Given the description of an element on the screen output the (x, y) to click on. 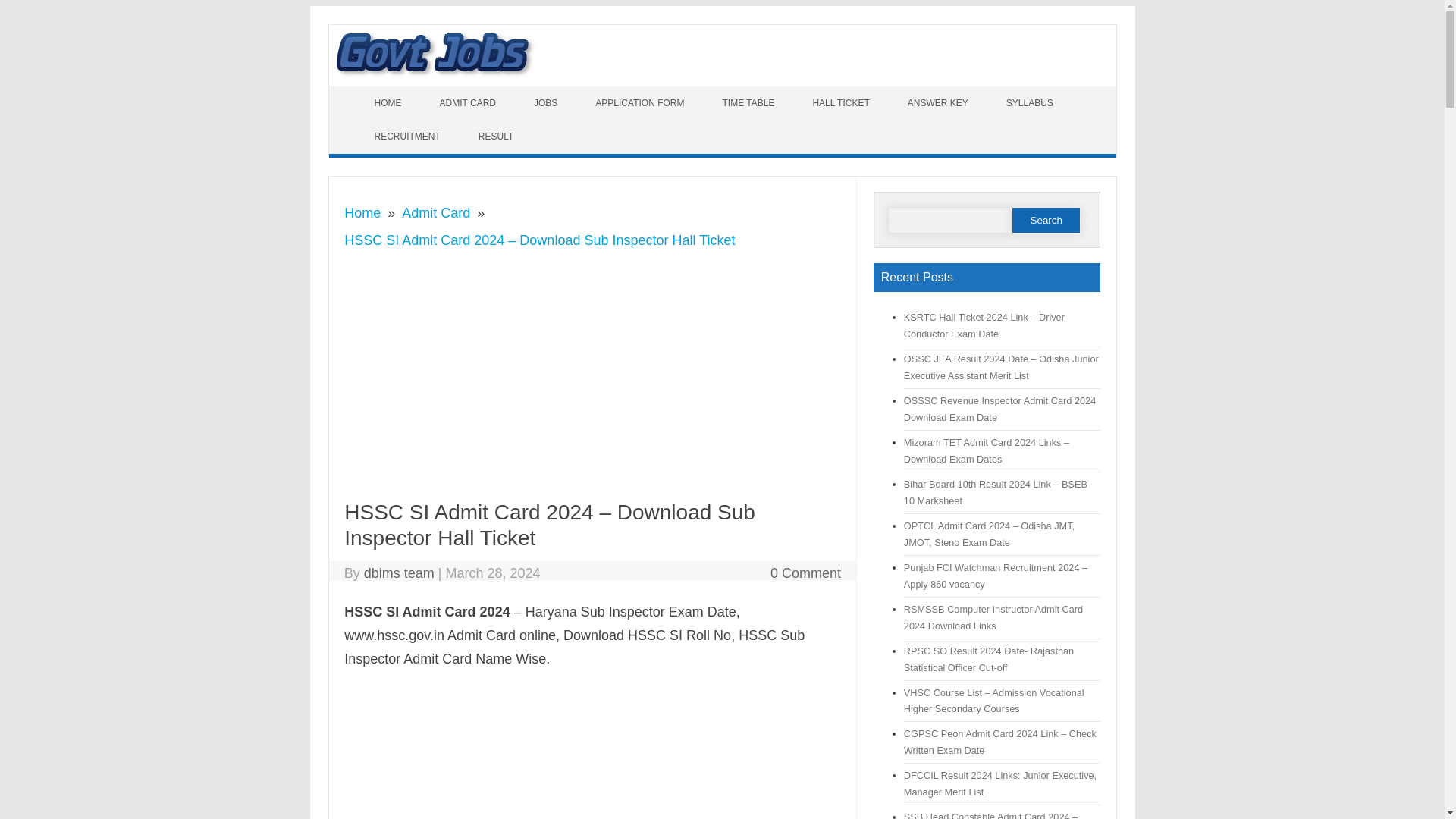
Search (1045, 220)
ANSWER KEY (939, 102)
APPLICATION FORM (641, 102)
Home (361, 212)
ADMIT CARD (470, 102)
DBIMS.IN (435, 79)
Admit Card (435, 212)
0 Comment (805, 572)
Search (1045, 220)
Skip to content (374, 94)
